Given the description of an element on the screen output the (x, y) to click on. 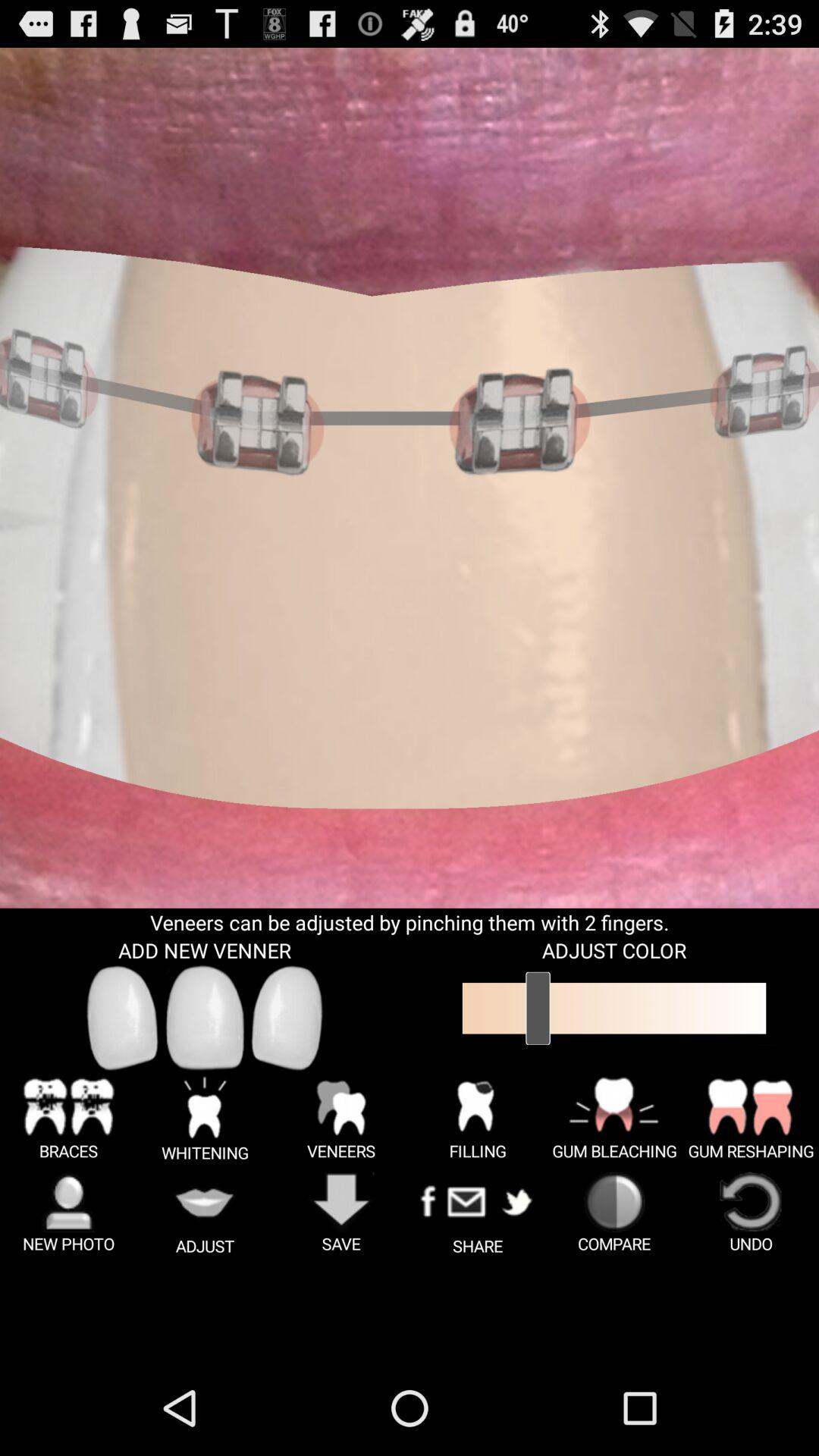
select veneer (287, 1017)
